Given the description of an element on the screen output the (x, y) to click on. 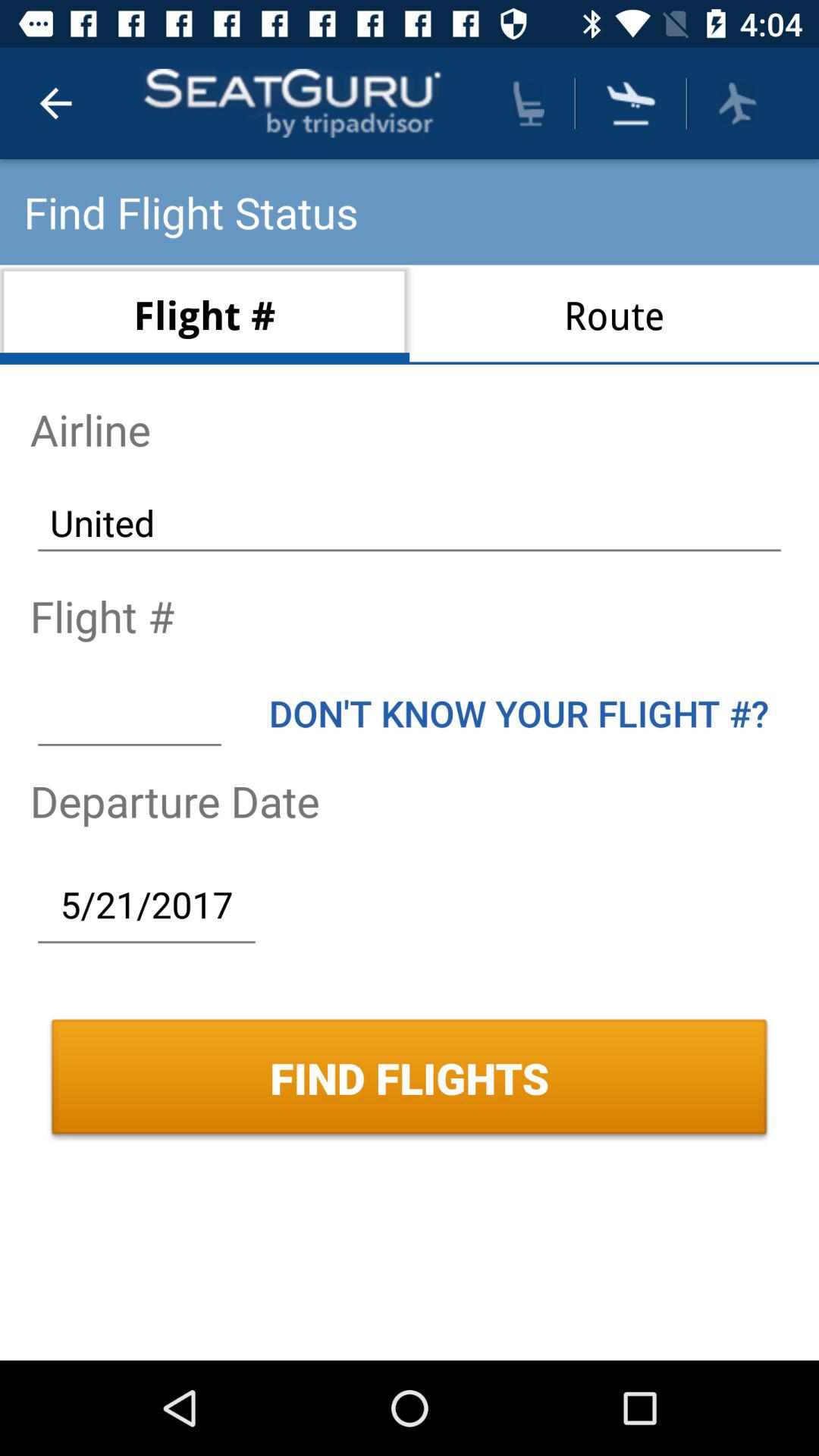
find flights (630, 103)
